Given the description of an element on the screen output the (x, y) to click on. 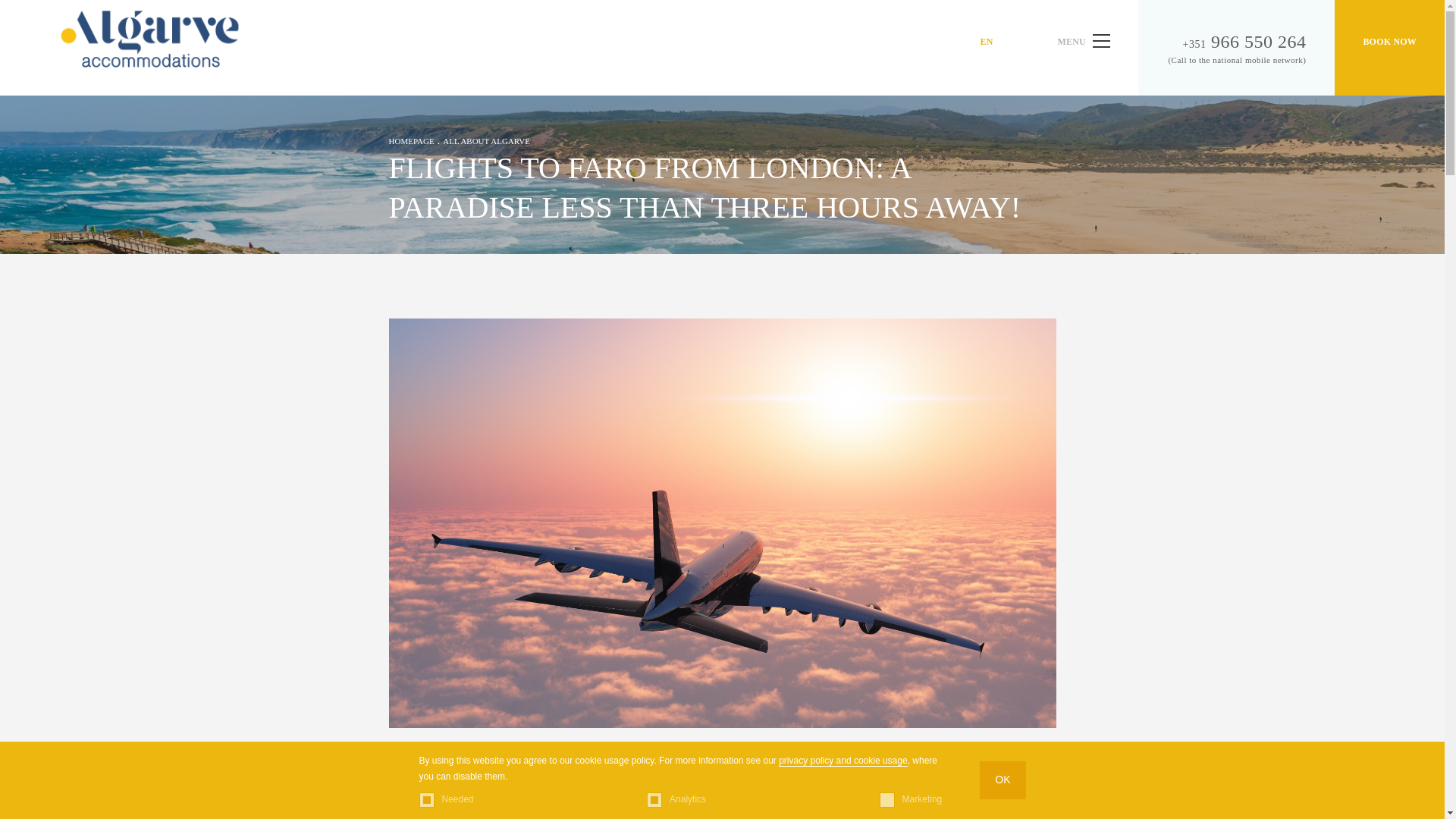
privacy policy and cookie usage (842, 760)
Algarve Accommodations (148, 38)
EN (985, 41)
OK (1002, 780)
HOMEPAGE (410, 140)
MENU   (1083, 47)
ALL ABOUT ALGARVE (485, 140)
